Given the description of an element on the screen output the (x, y) to click on. 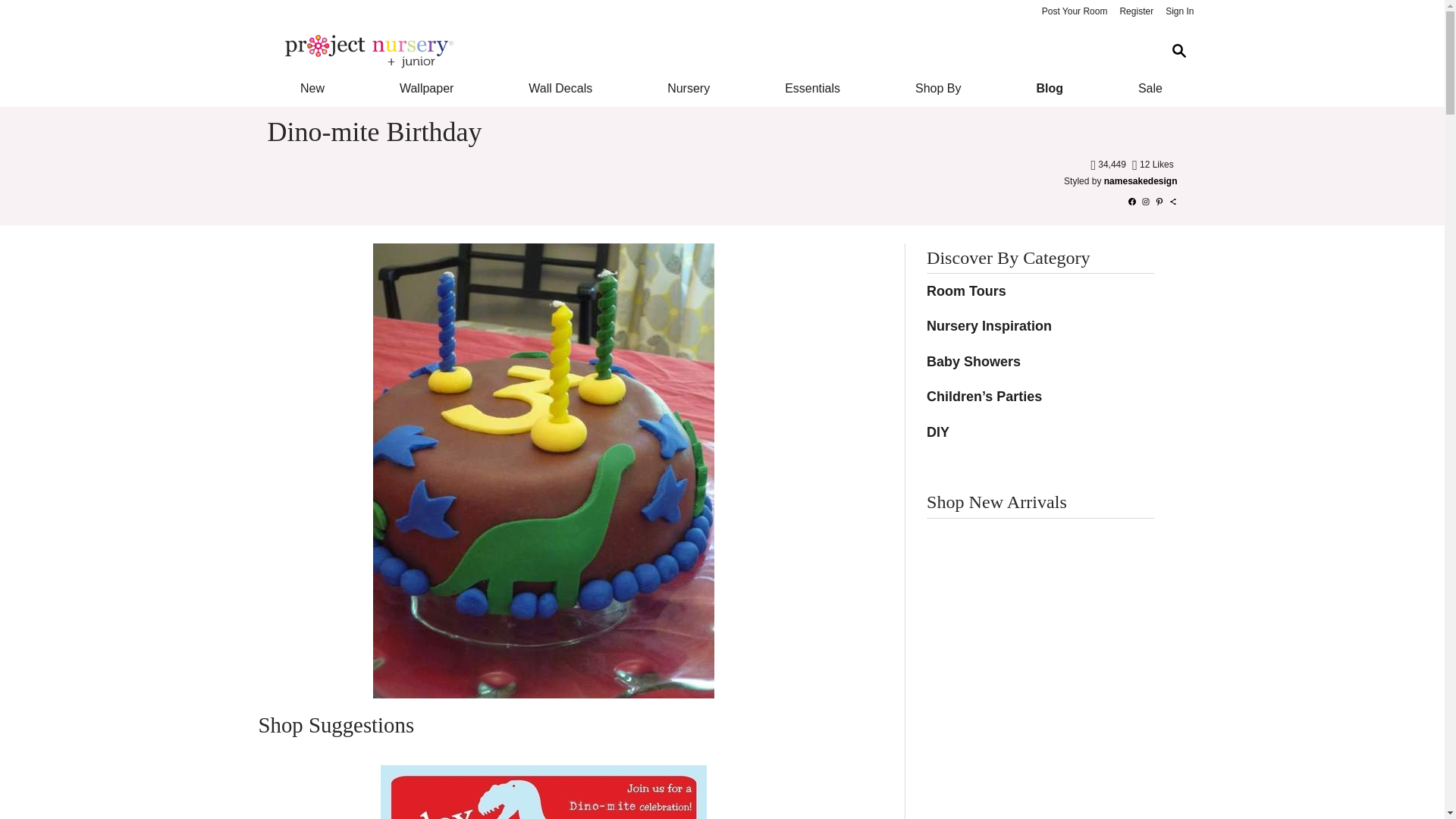
Search (1178, 50)
Views (1109, 163)
Register (1135, 11)
Post Your Room (1074, 11)
Wallpaper (425, 88)
Wall Decals (561, 88)
Nursery (689, 88)
Project Nursery (709, 51)
New (311, 88)
Post Your Room (1074, 11)
